Given the description of an element on the screen output the (x, y) to click on. 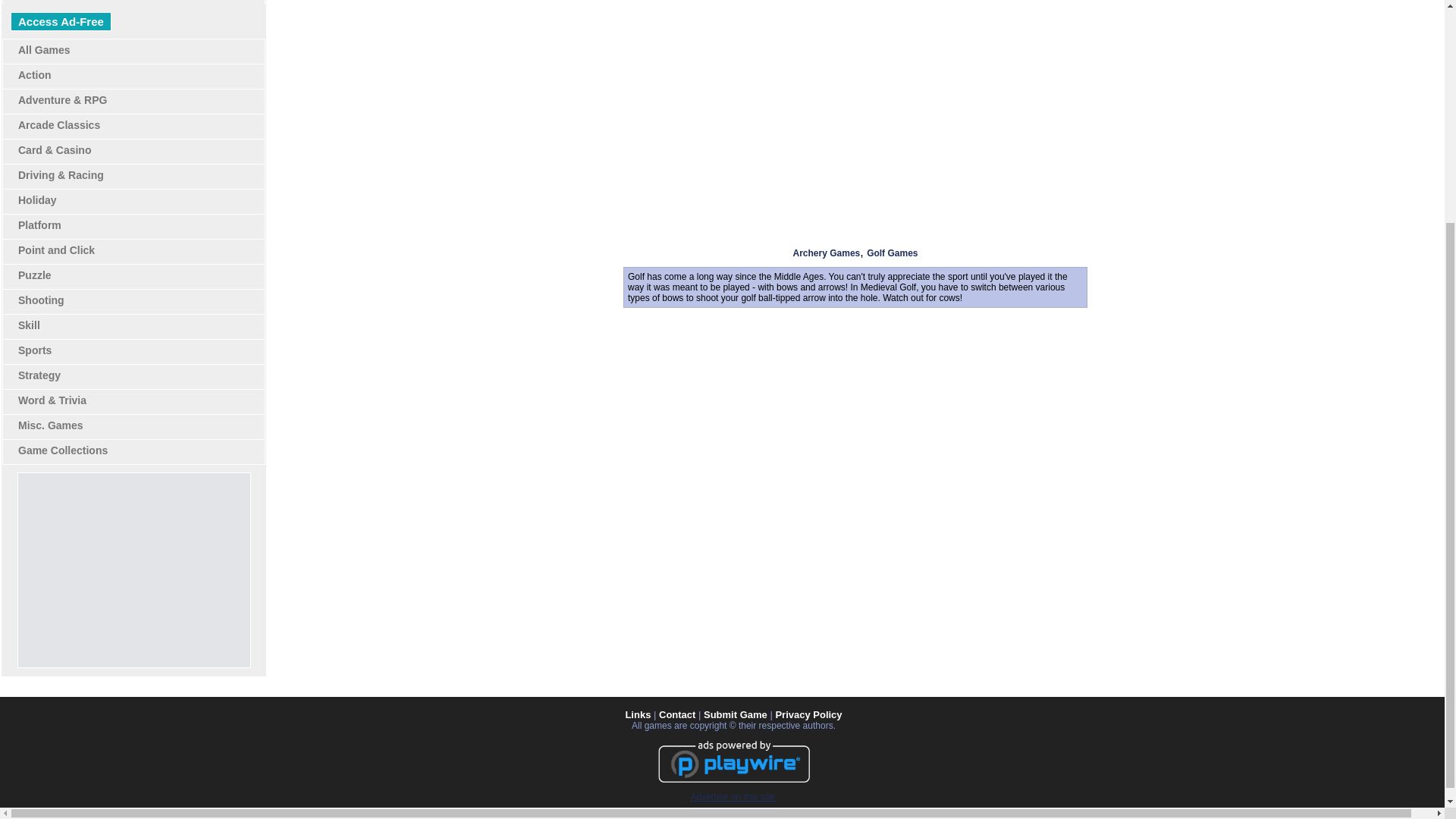
Sports (33, 349)
Submit Game (735, 714)
Golf Games (891, 253)
Advertise on this site. (733, 796)
Access Ad-Free (61, 21)
Links (637, 714)
Holiday (36, 200)
All Games (43, 50)
Arcade Classics (58, 124)
Puzzle (33, 275)
